Given the description of an element on the screen output the (x, y) to click on. 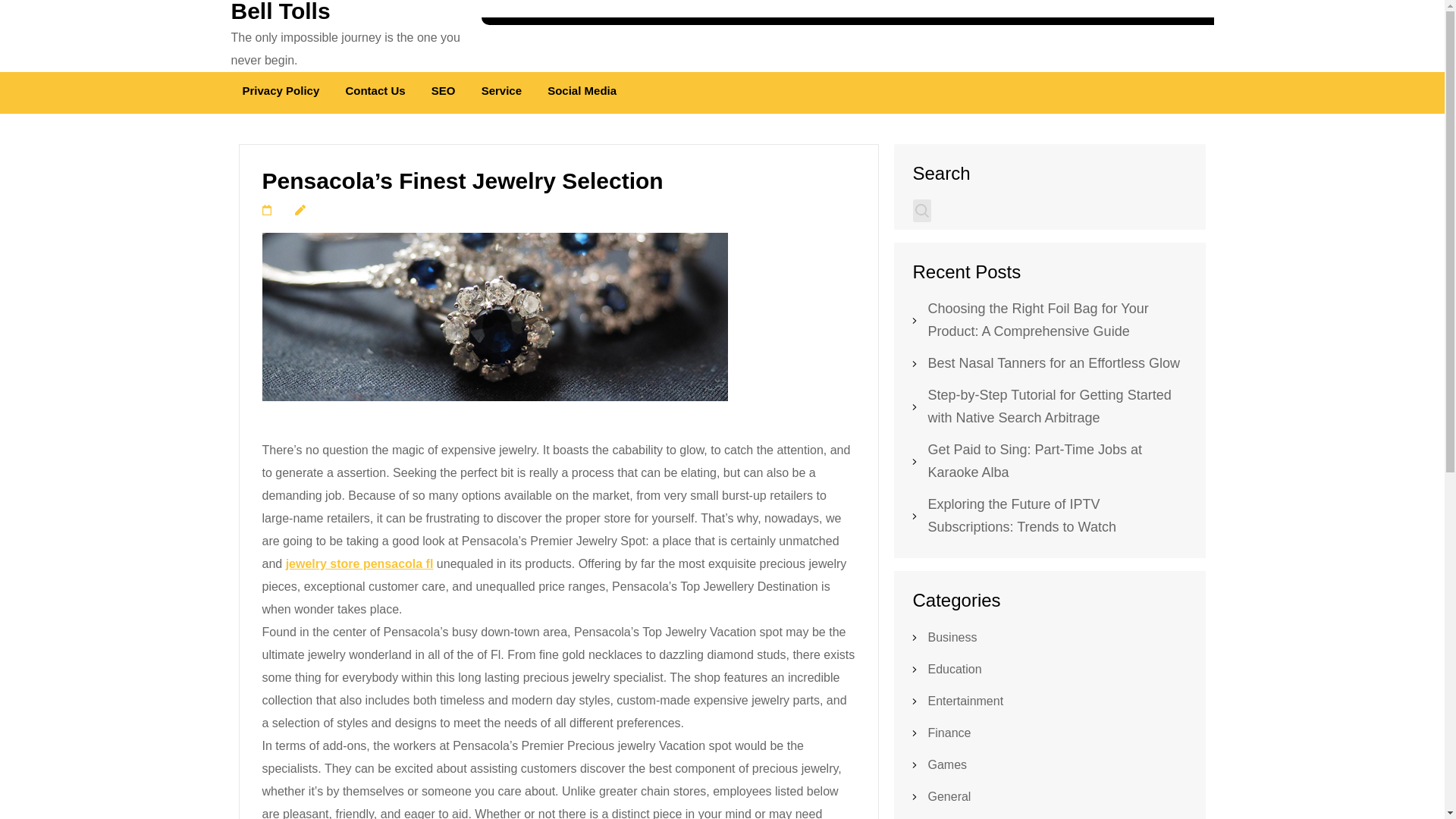
Privacy Policy (281, 92)
Best Nasal Tanners for an Effortless Glow (1054, 363)
Games (948, 764)
jewelry store pensacola fl (359, 563)
Exploring the Future of IPTV Subscriptions: Trends to Watch (1022, 515)
Education (954, 668)
Finance (949, 732)
Entertainment (966, 700)
Contact Us (374, 92)
